Given the description of an element on the screen output the (x, y) to click on. 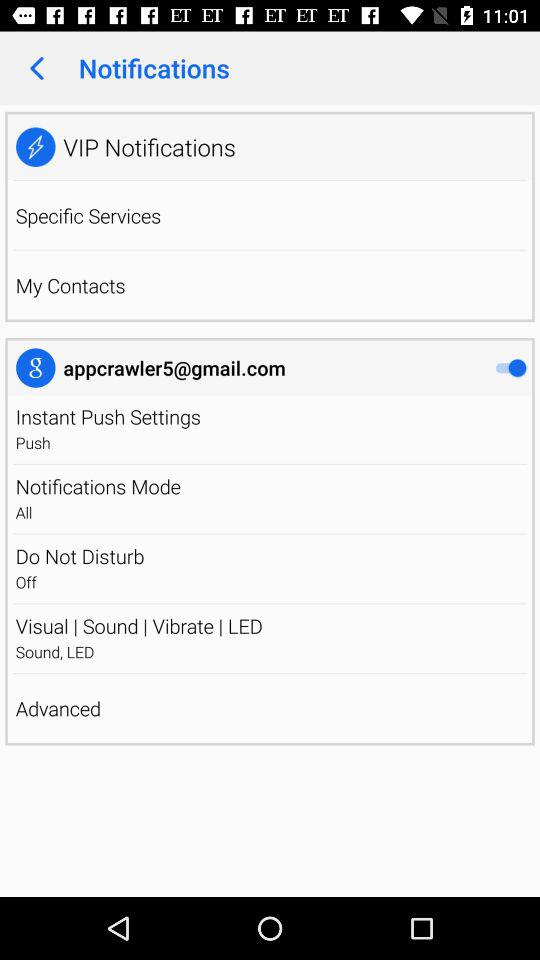
turn off app above notifications mode icon (269, 464)
